Given the description of an element on the screen output the (x, y) to click on. 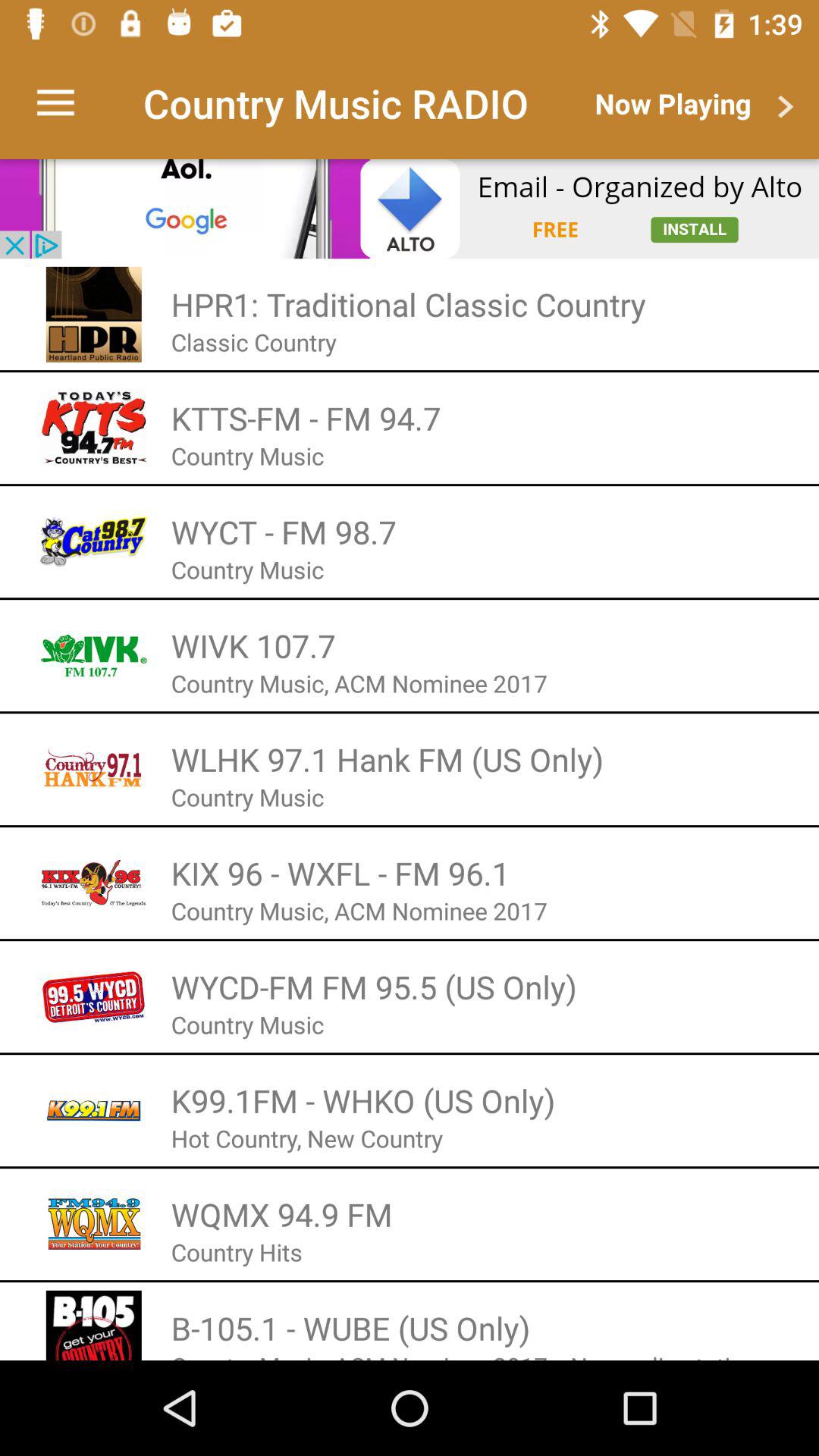
advertisement (409, 208)
